Given the description of an element on the screen output the (x, y) to click on. 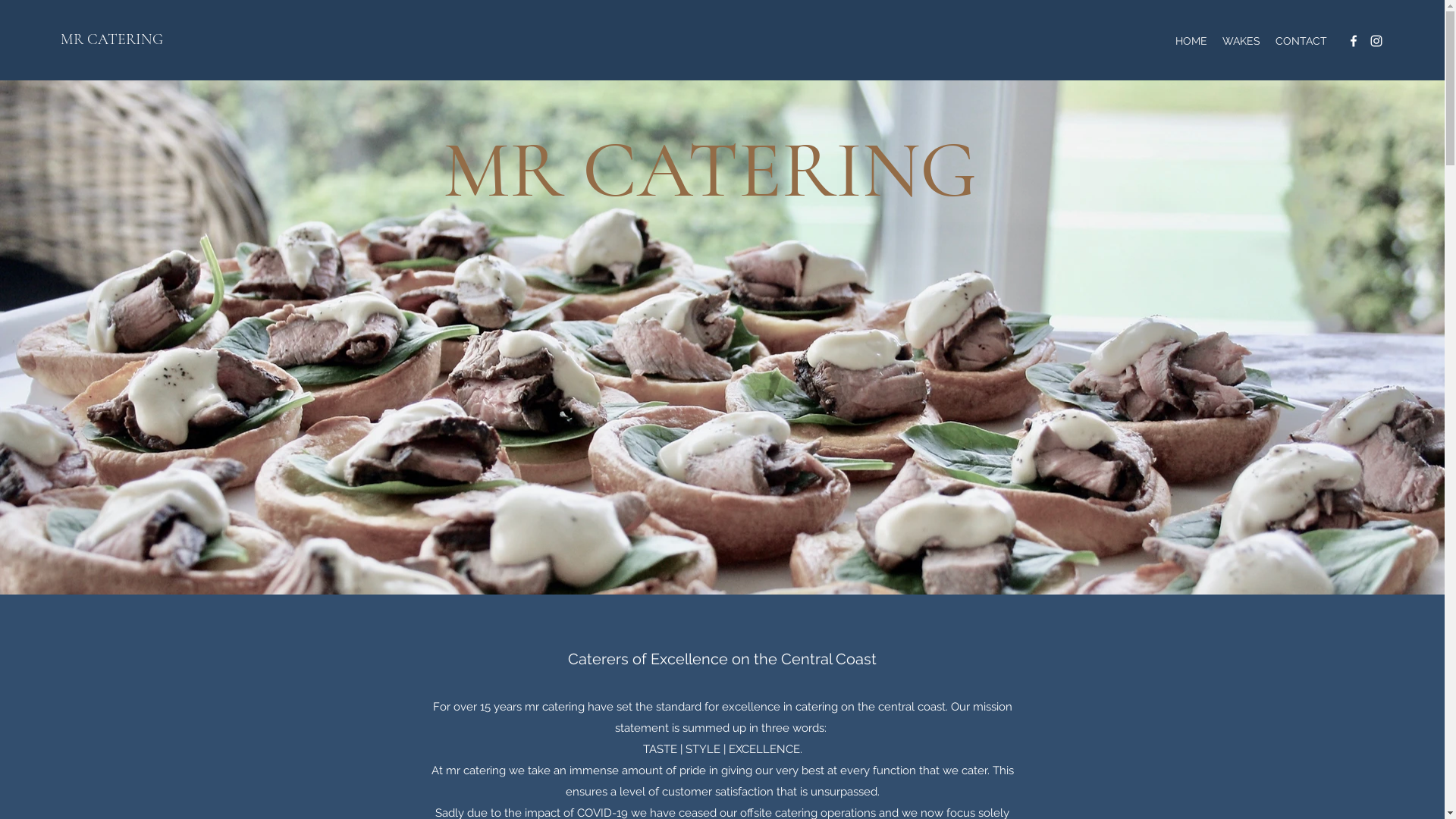
MR CATERING Element type: text (111, 39)
CONTACT Element type: text (1300, 40)
HOME Element type: text (1190, 40)
WAKES Element type: text (1240, 40)
